Given the description of an element on the screen output the (x, y) to click on. 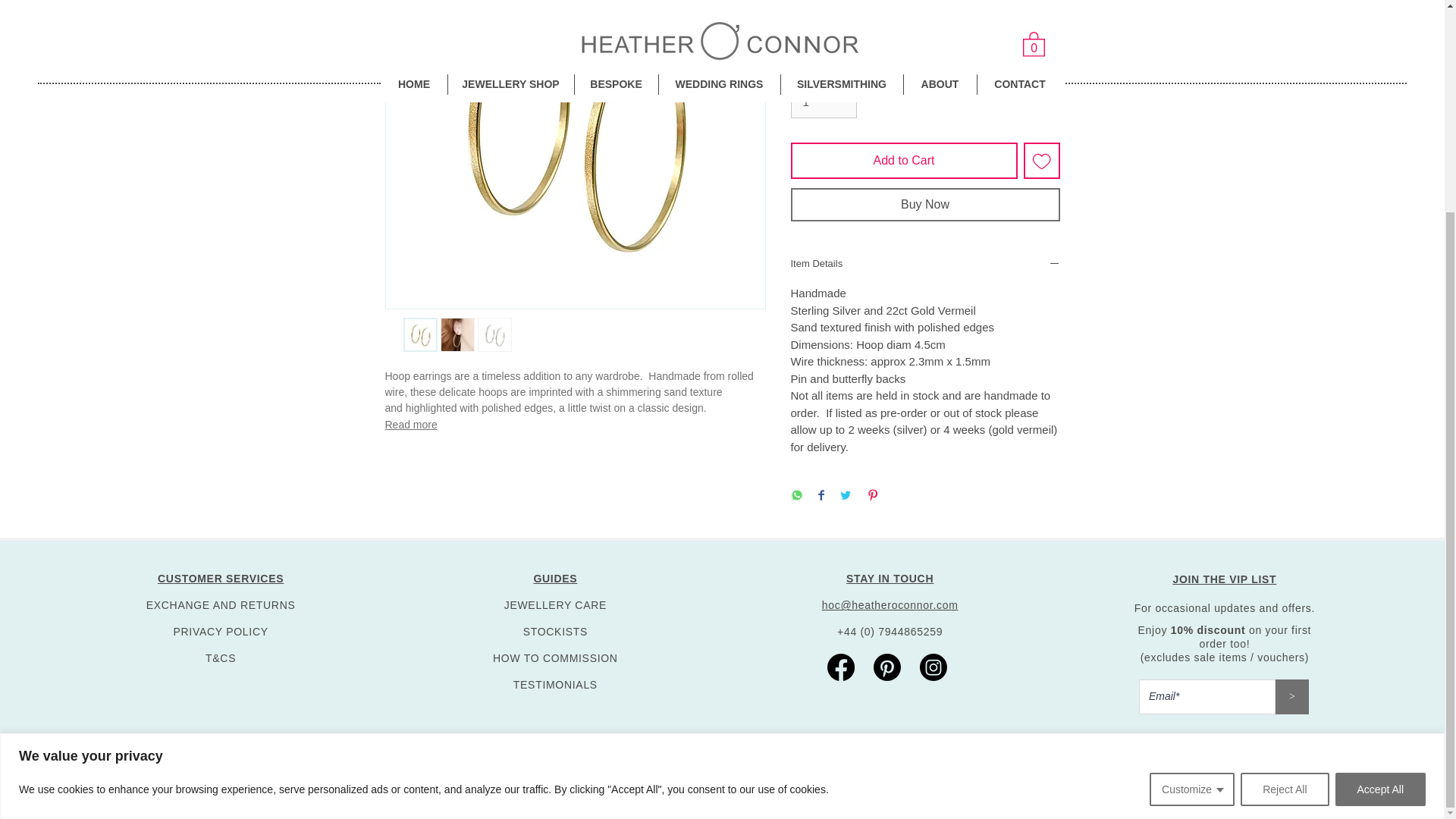
1 (823, 101)
Reject All (1283, 512)
Customize (1192, 512)
Accept All (1380, 512)
